Given the description of an element on the screen output the (x, y) to click on. 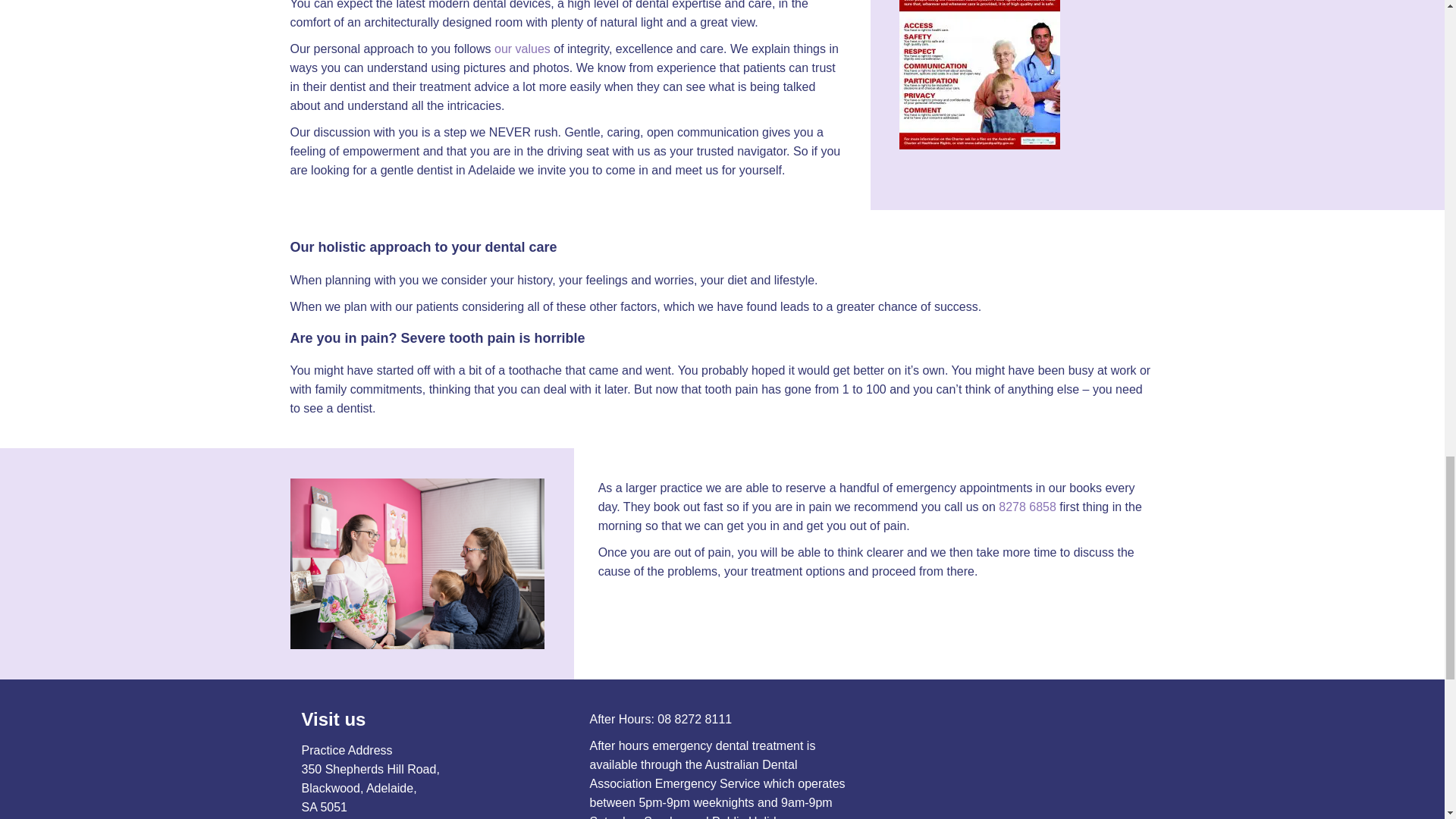
Australian Charter of Healthcare Rights A3 poster (979, 74)
Our approach (522, 48)
